Given the description of an element on the screen output the (x, y) to click on. 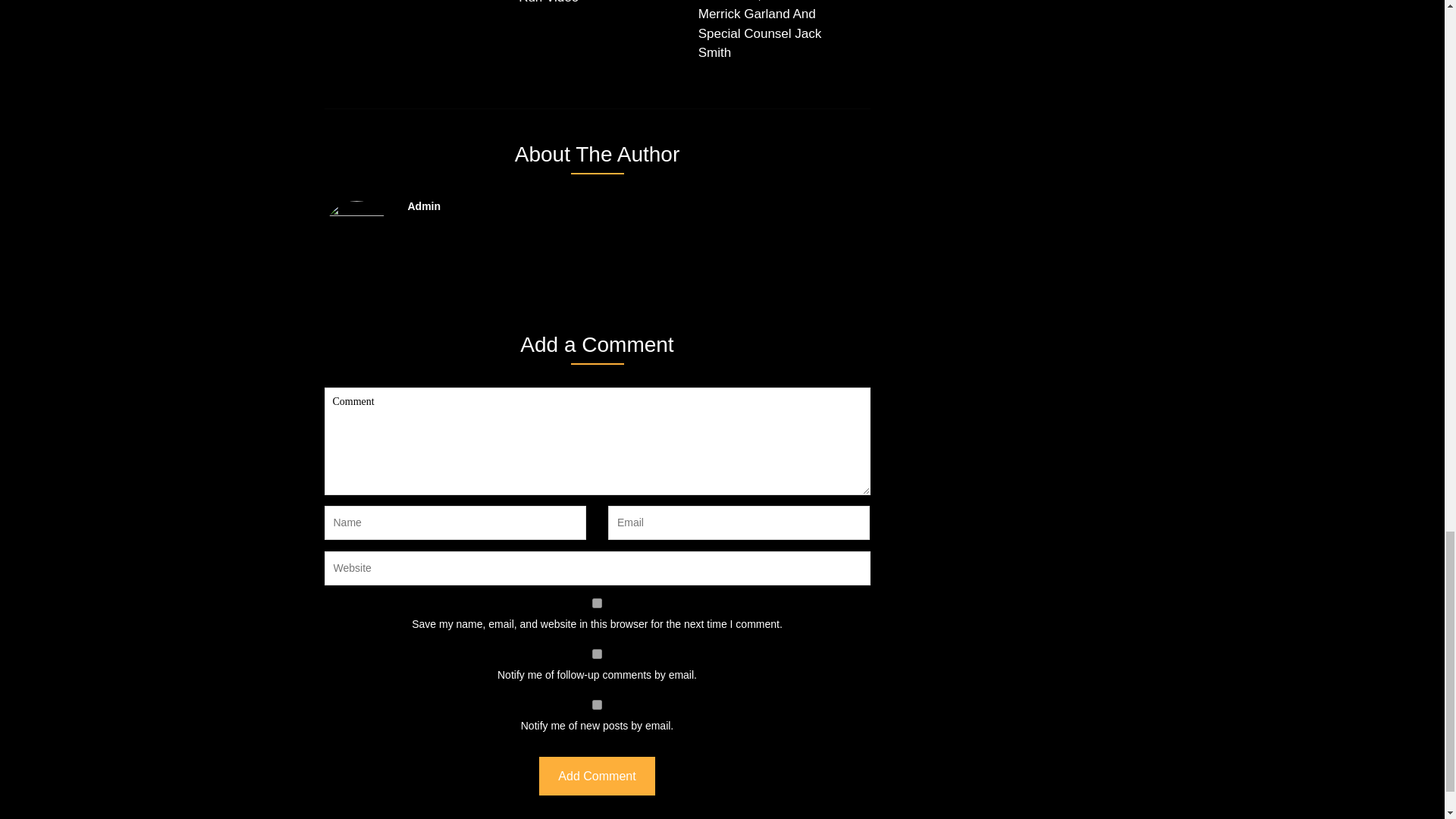
subscribe (597, 654)
Add Comment (595, 775)
subscribe (597, 705)
yes (597, 603)
New Jersey Democrat Leader Caught In Hit-And-Run Video (593, 7)
